Given the description of an element on the screen output the (x, y) to click on. 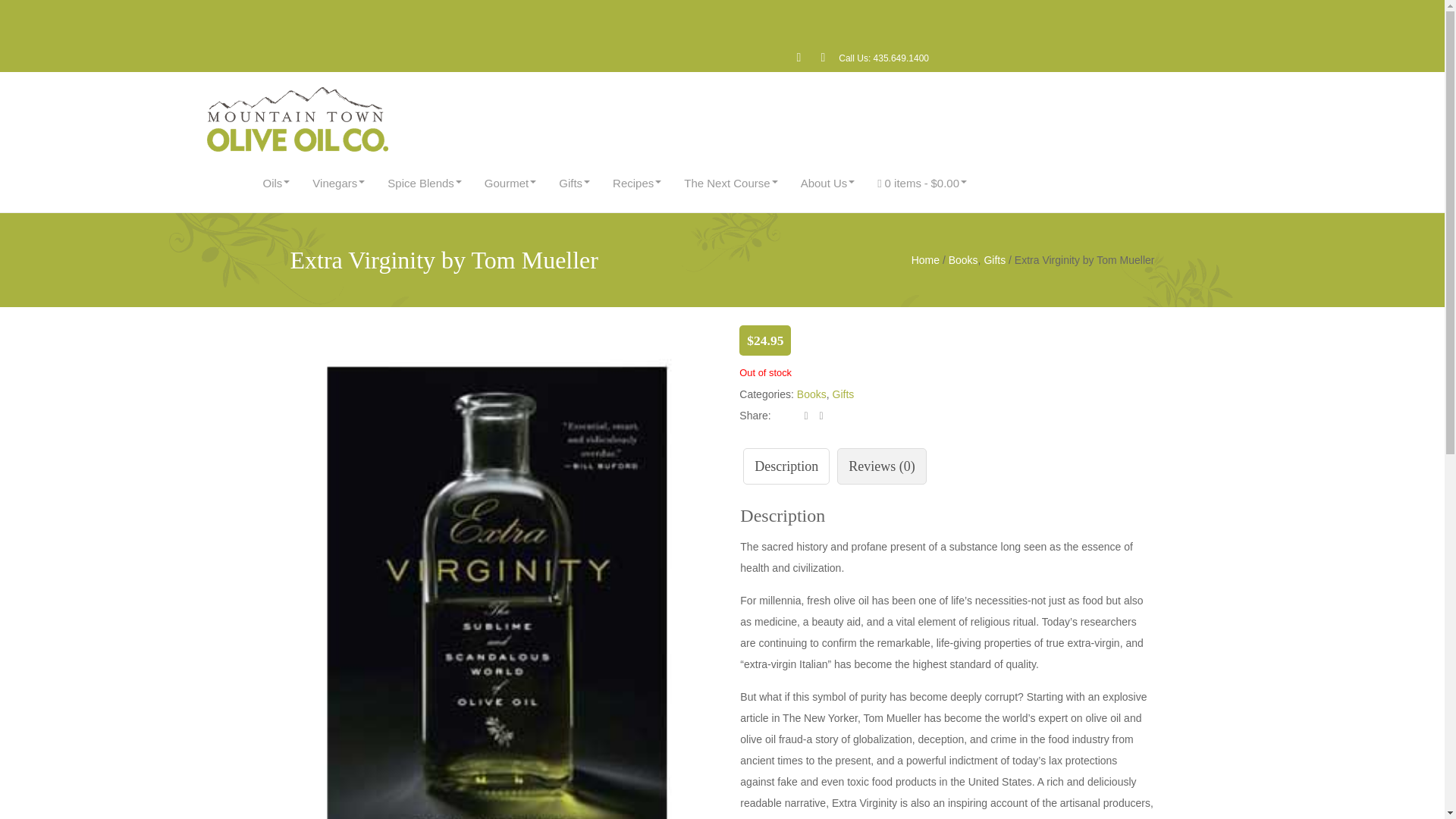
Vinegars (334, 182)
Start shopping (917, 182)
Gourmet (505, 182)
Spice Blends (420, 182)
Gifts (569, 182)
Oils (272, 182)
